Given the description of an element on the screen output the (x, y) to click on. 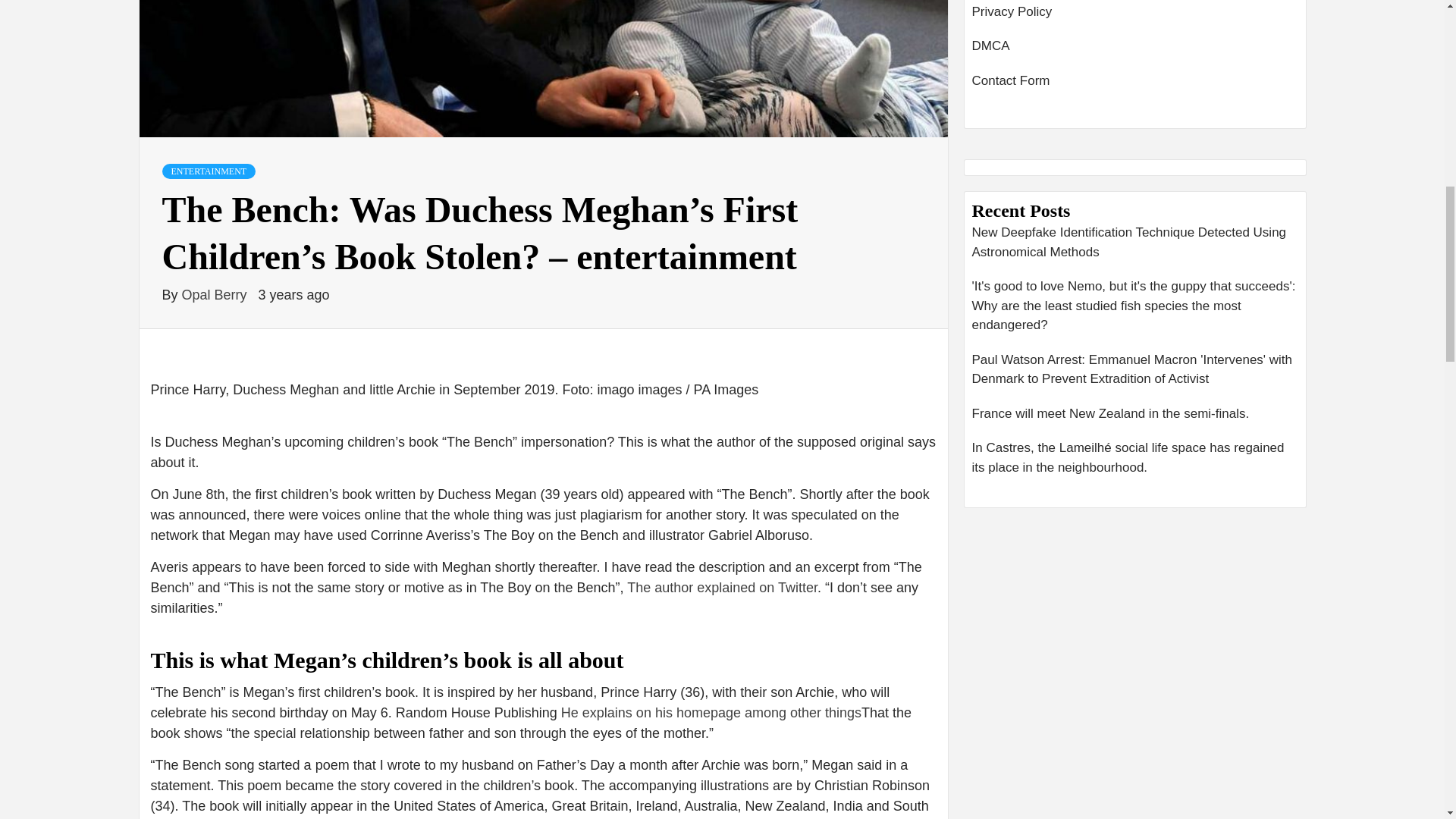
ENTERTAINMENT (208, 171)
He explains on his homepage among other things (710, 712)
The author explained on Twitter (721, 587)
Opal Berry (216, 294)
